Given the description of an element on the screen output the (x, y) to click on. 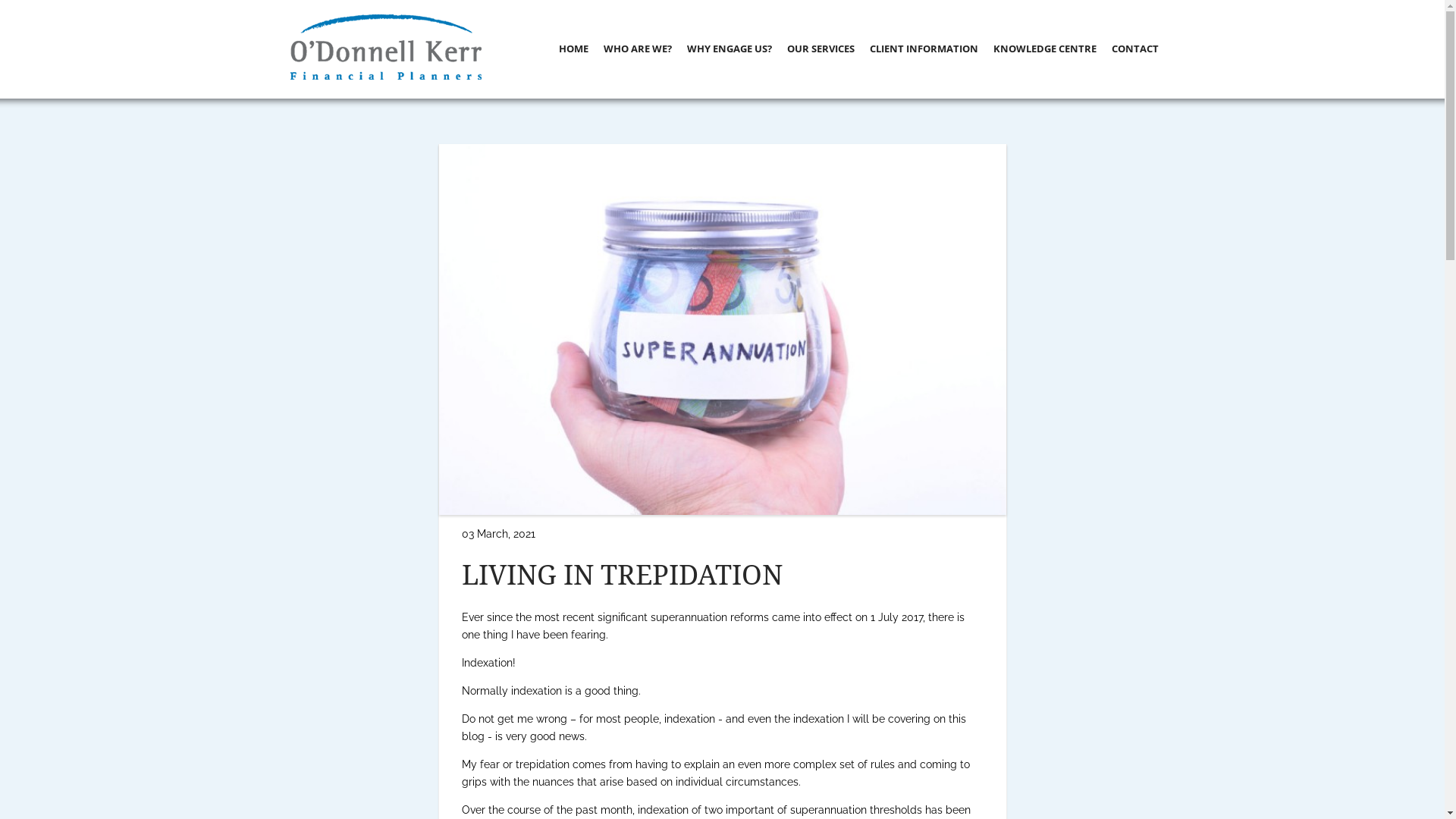
WHY ENGAGE US? Element type: text (729, 48)
OUR SERVICES Element type: text (820, 48)
HOME Element type: text (572, 48)
CLIENT INFORMATION Element type: text (923, 48)
WHO ARE WE? Element type: text (637, 48)
KNOWLEDGE CENTRE Element type: text (1044, 48)
CONTACT Element type: text (1134, 48)
